Given the description of an element on the screen output the (x, y) to click on. 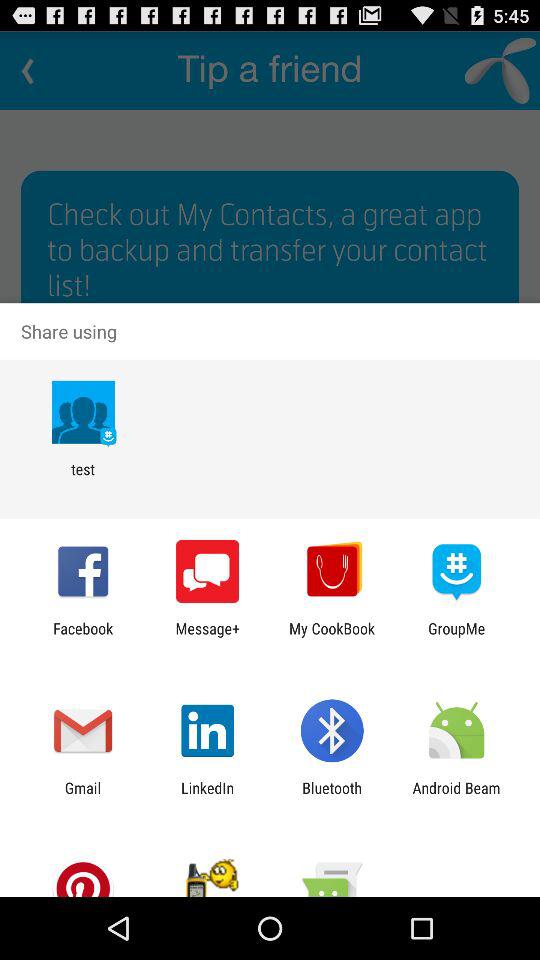
scroll to the test icon (82, 478)
